Given the description of an element on the screen output the (x, y) to click on. 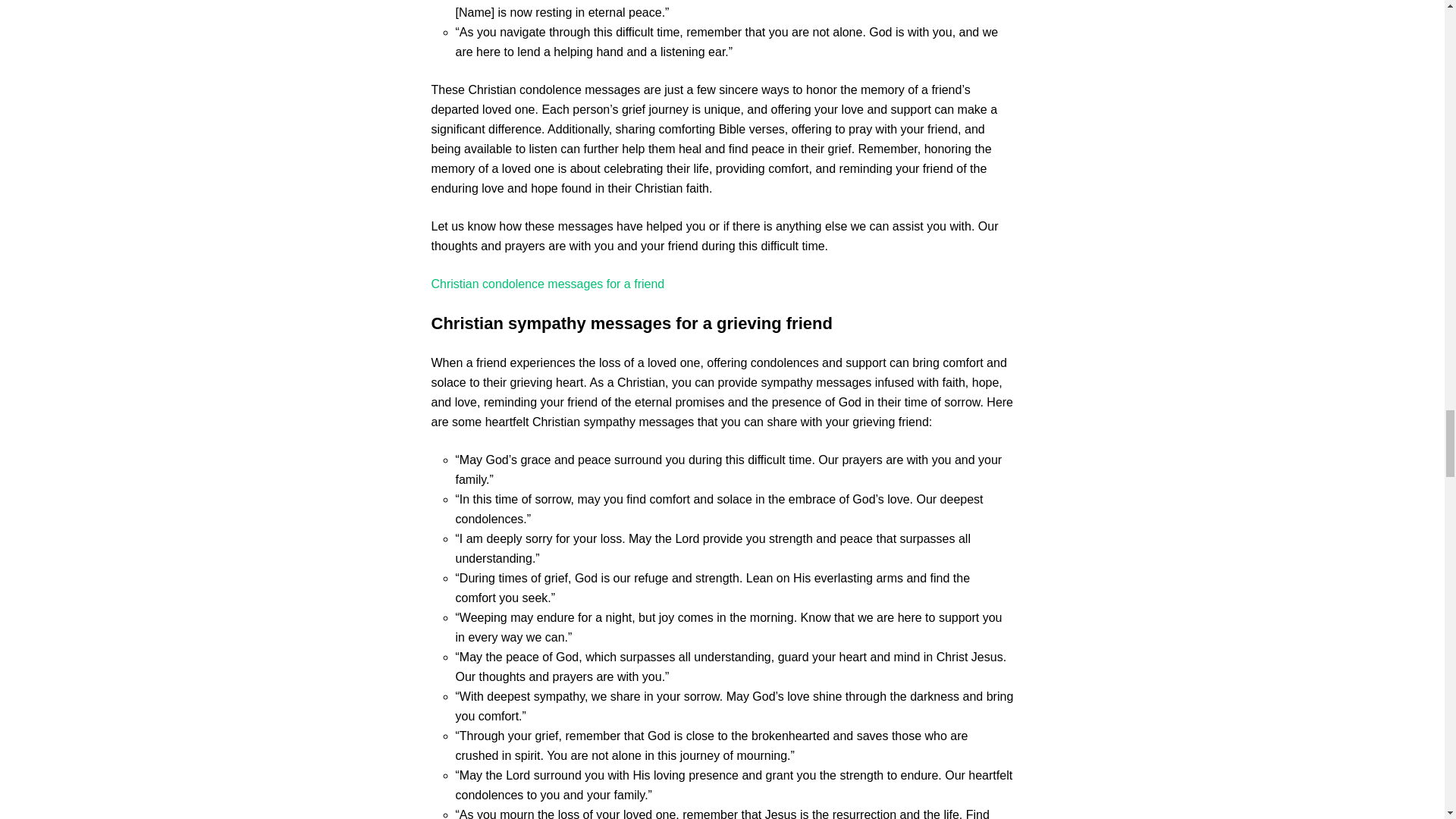
Christian condolence messages for a friend (546, 283)
